Given the description of an element on the screen output the (x, y) to click on. 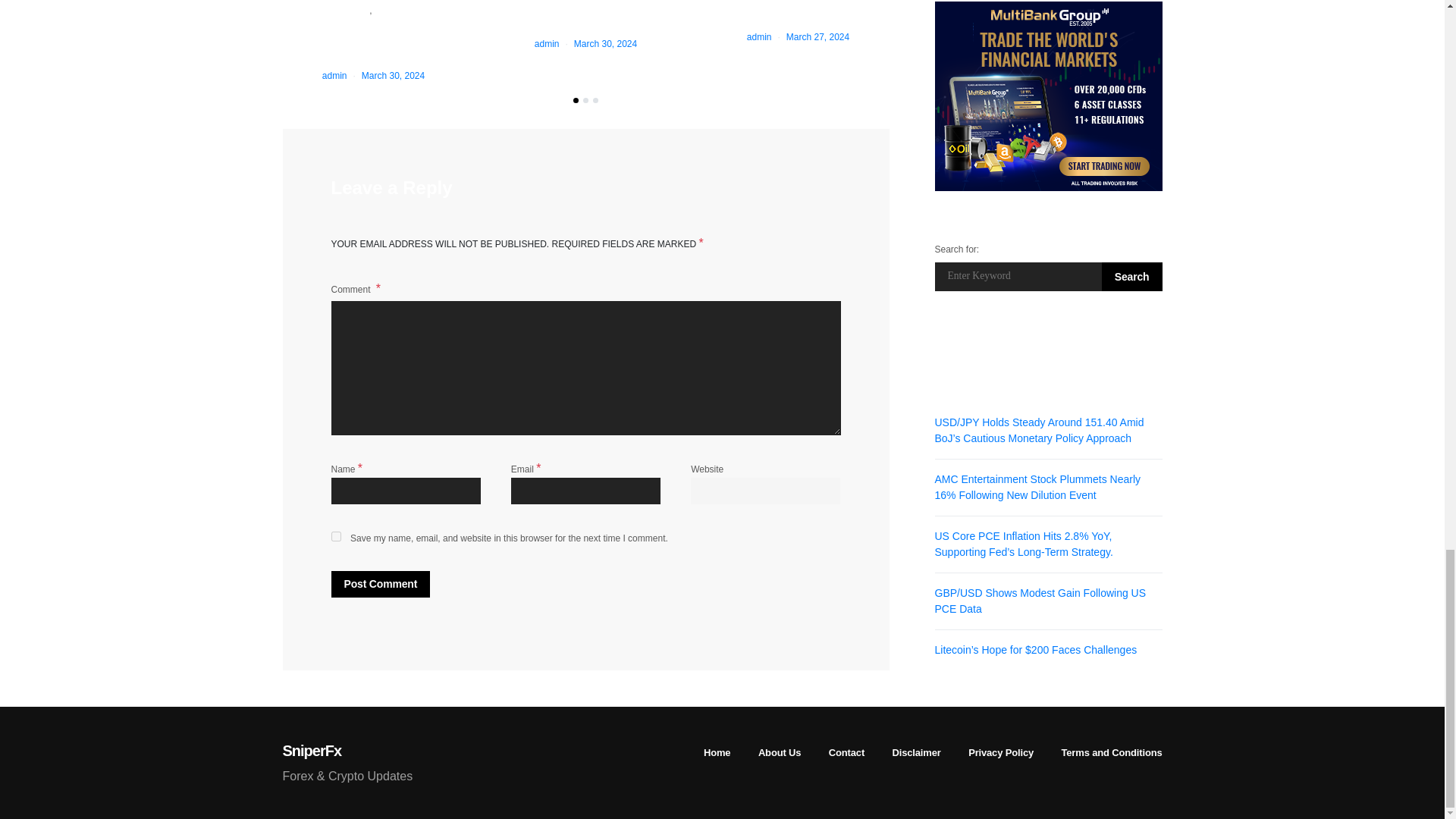
yes (335, 536)
View all posts by admin (758, 36)
View all posts by admin (334, 75)
Post Comment (379, 583)
View all posts by admin (546, 43)
